Given the description of an element on the screen output the (x, y) to click on. 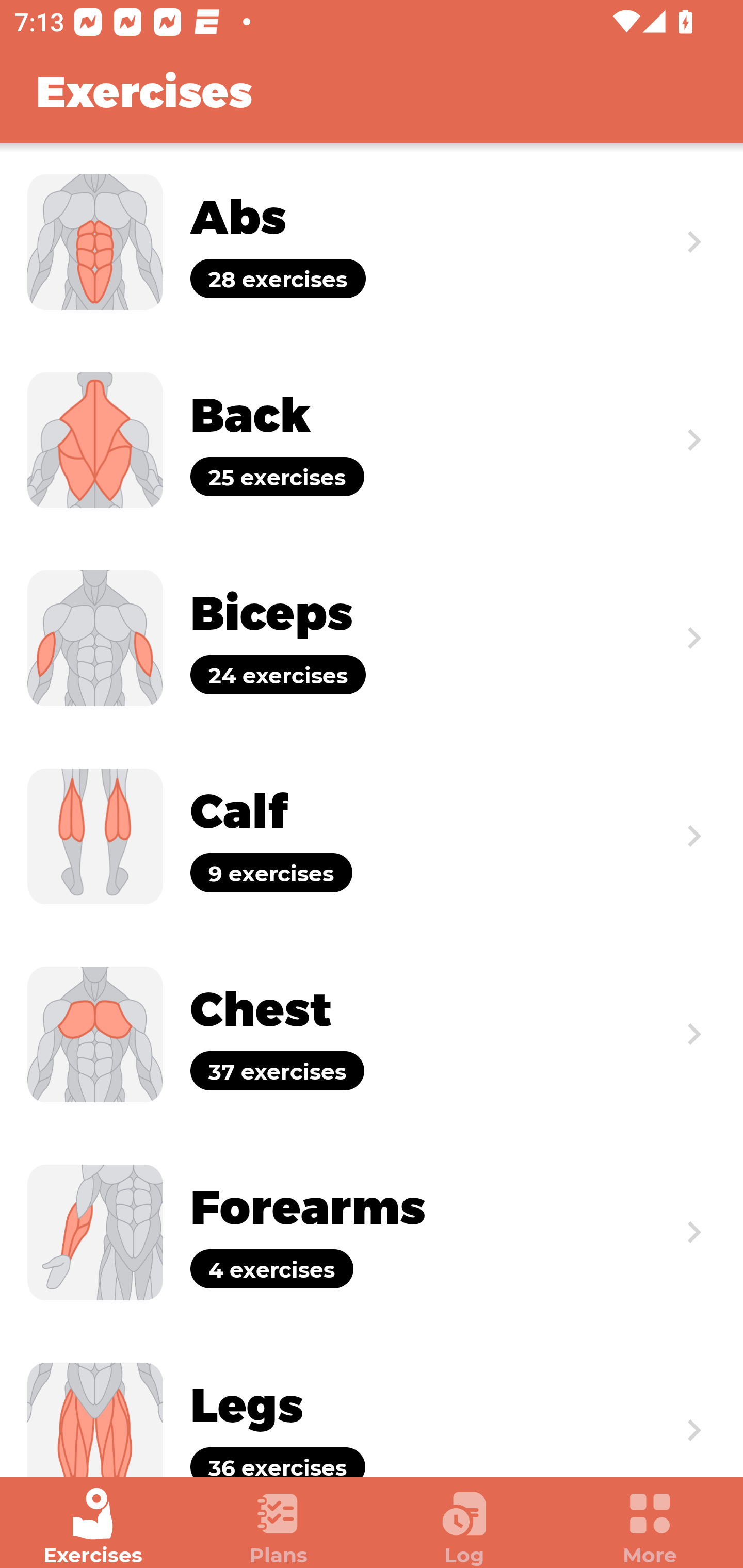
Exercise Abs 28 exercises (371, 241)
Exercise Back 25 exercises (371, 439)
Exercise Biceps 24 exercises (371, 637)
Exercise Calf 9 exercises (371, 836)
Exercise Chest 37 exercises (371, 1033)
Exercise Forearms 4 exercises (371, 1232)
Exercise Legs 36 exercises (371, 1404)
Exercises (92, 1527)
Plans (278, 1527)
Log (464, 1527)
More (650, 1527)
